Given the description of an element on the screen output the (x, y) to click on. 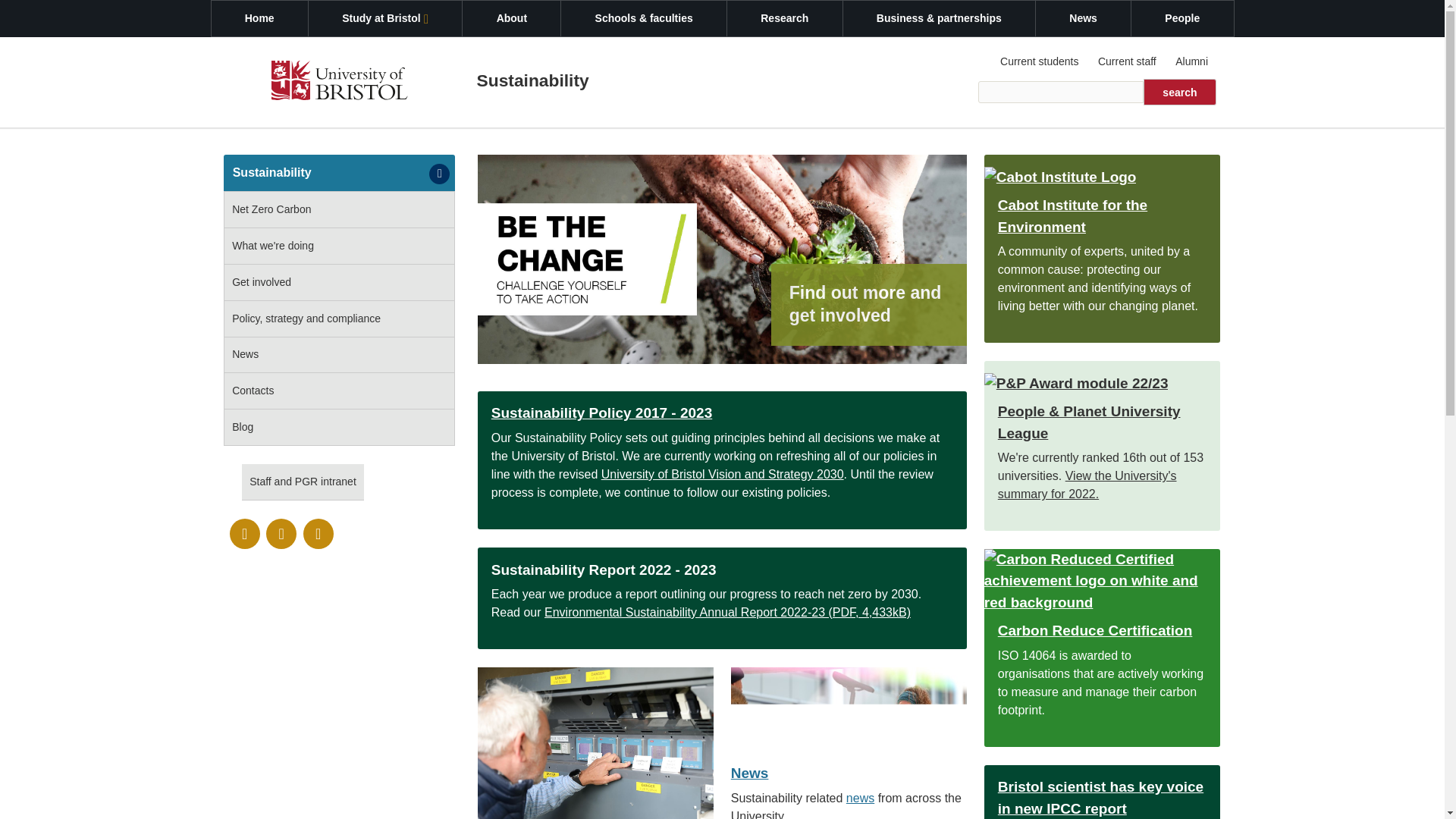
Instagram (317, 533)
Cabot Institute for the Environment (1102, 203)
News (339, 354)
Blog (339, 427)
Staff and PGR intranet (303, 482)
News (848, 763)
Policy, strategy and compliance (339, 319)
Net Zero Carbon (339, 209)
search (1178, 91)
